Given the description of an element on the screen output the (x, y) to click on. 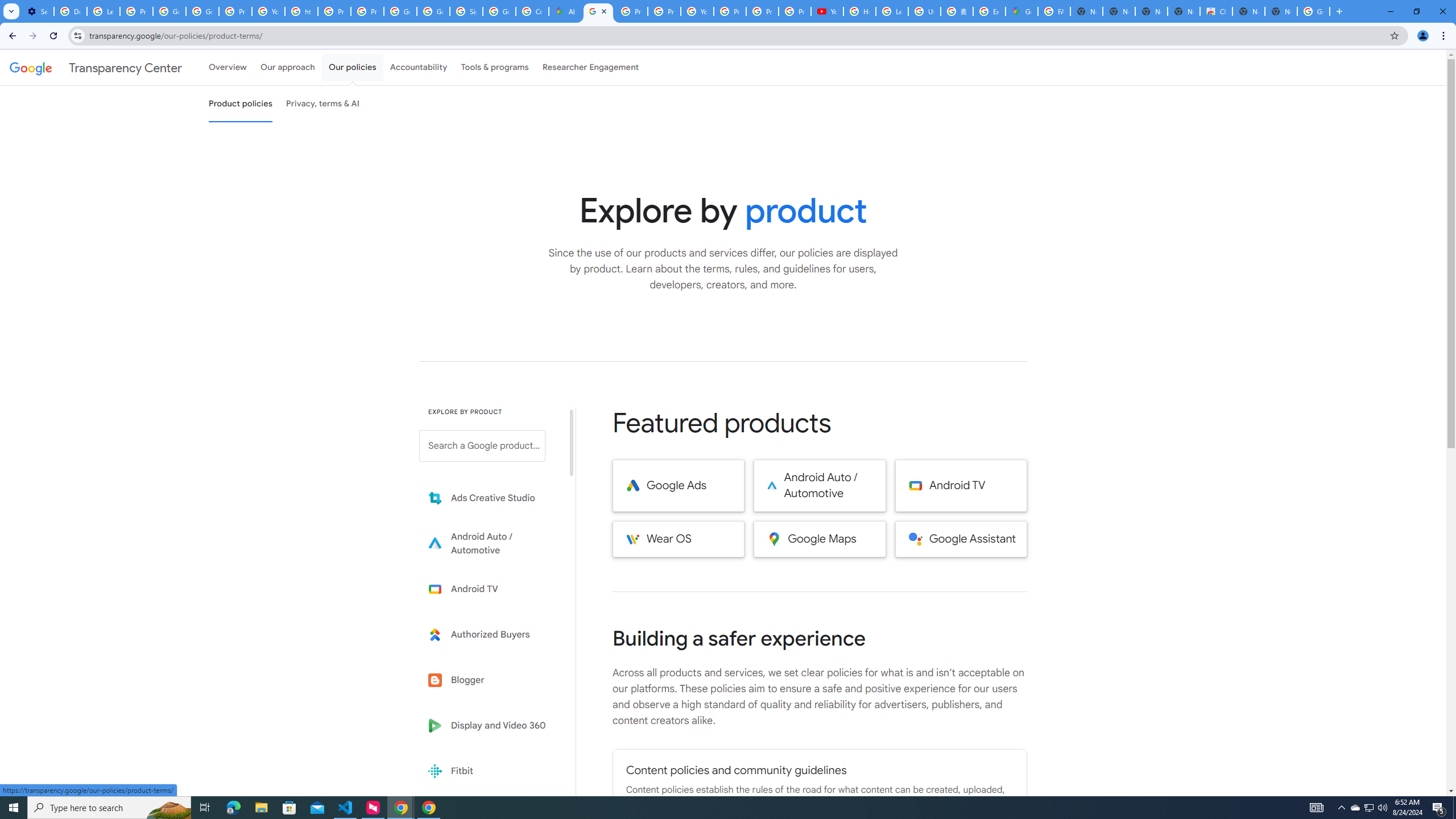
Settings - On startup (37, 11)
Google Account Help (202, 11)
Fitbit (490, 770)
https://scholar.google.com/ (301, 11)
Researcher Engagement (590, 67)
Learn how to find your photos - Google Photos Help (103, 11)
New Tab (1281, 11)
Chrome Web Store (1216, 11)
Learn more about Android Auto (490, 543)
